Given the description of an element on the screen output the (x, y) to click on. 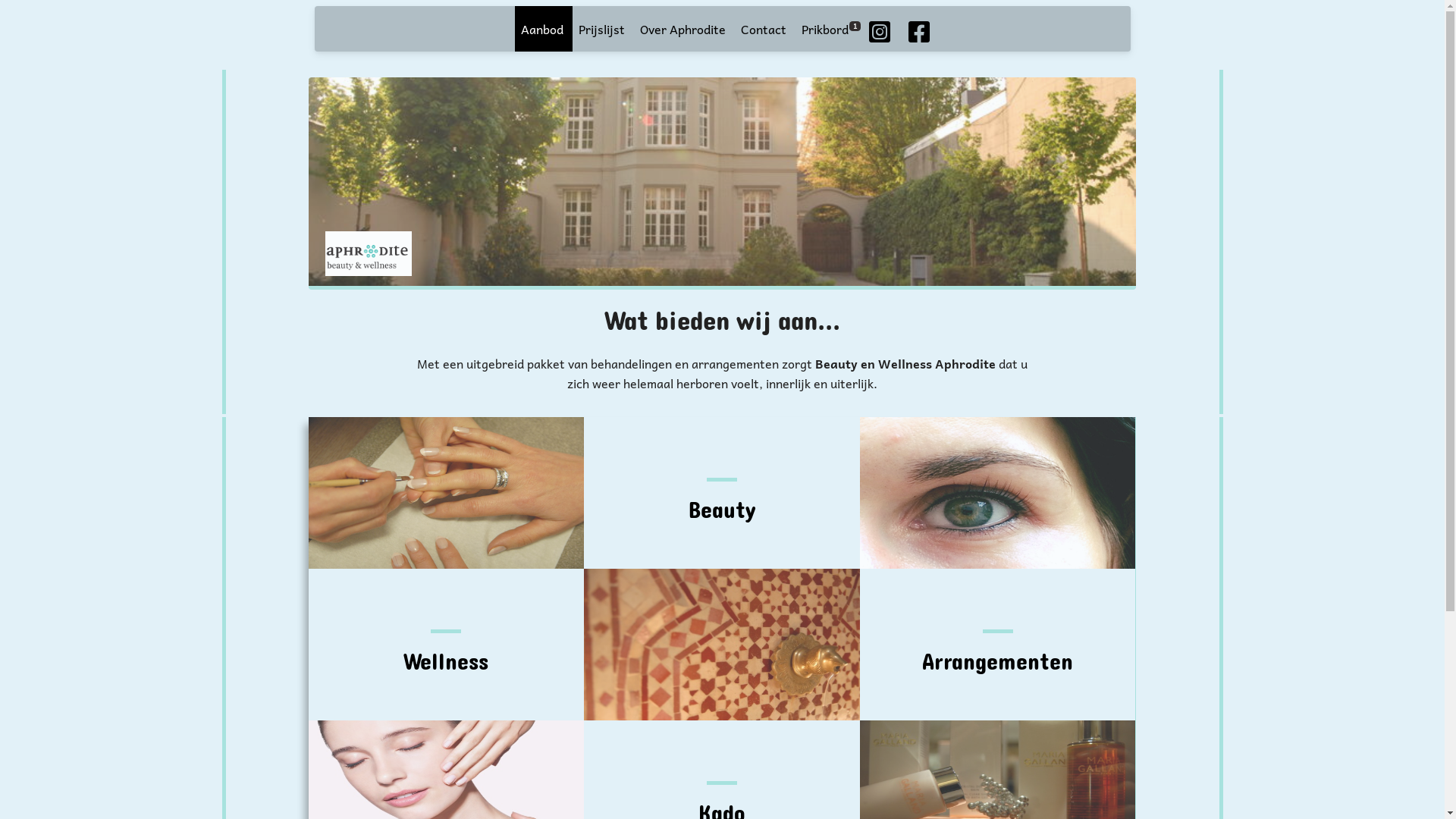
Prijslijst Element type: text (601, 29)
Wellness Element type: text (446, 644)
Beauty Element type: text (721, 492)
Arrangementen Element type: text (997, 644)
Aanbod Element type: text (541, 29)
Prikbord1 Element type: text (827, 29)
Contact Element type: text (763, 29)
Over Aphrodite Element type: text (682, 29)
